Given the description of an element on the screen output the (x, y) to click on. 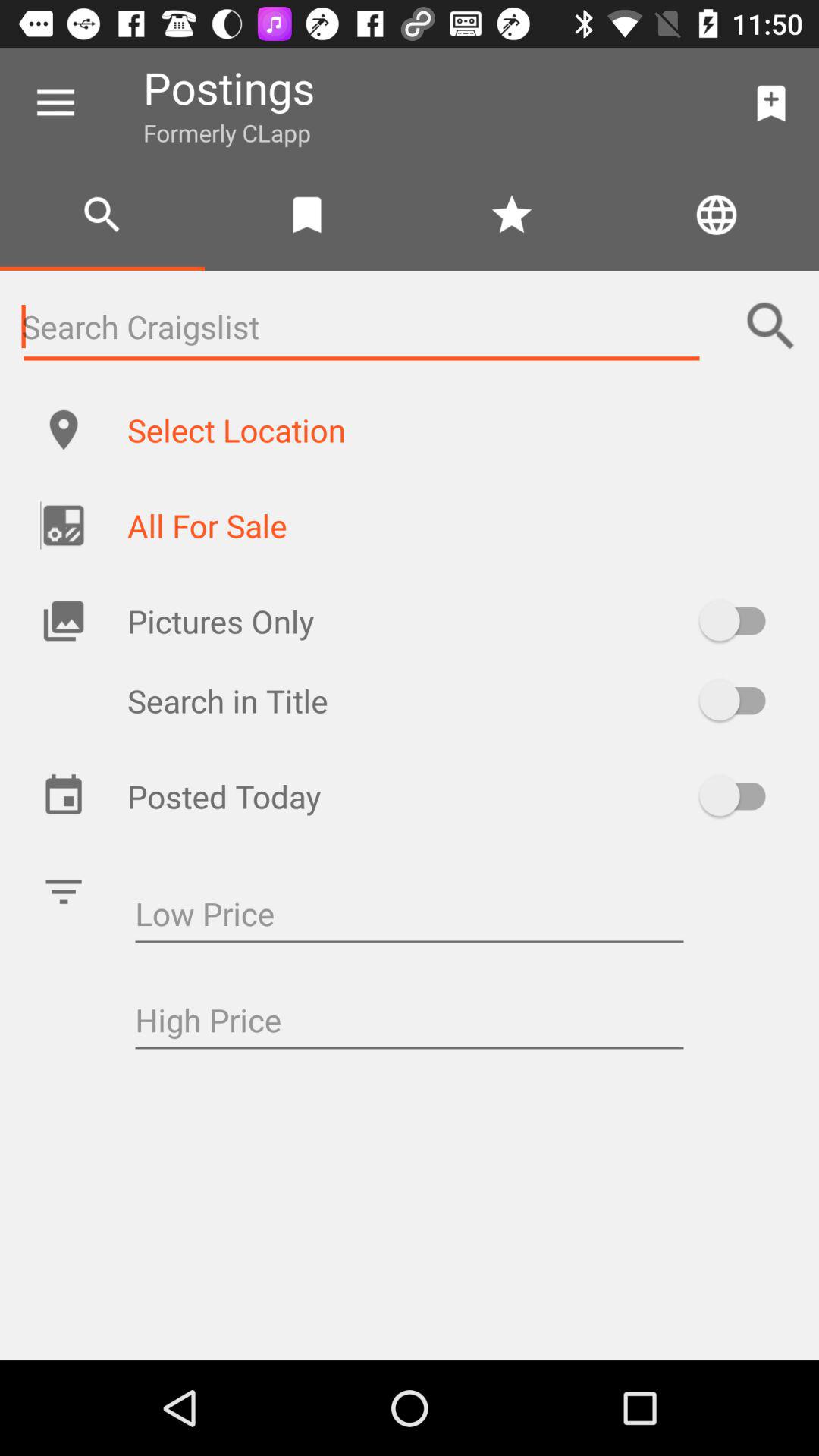
see only postings from today (739, 795)
